Given the description of an element on the screen output the (x, y) to click on. 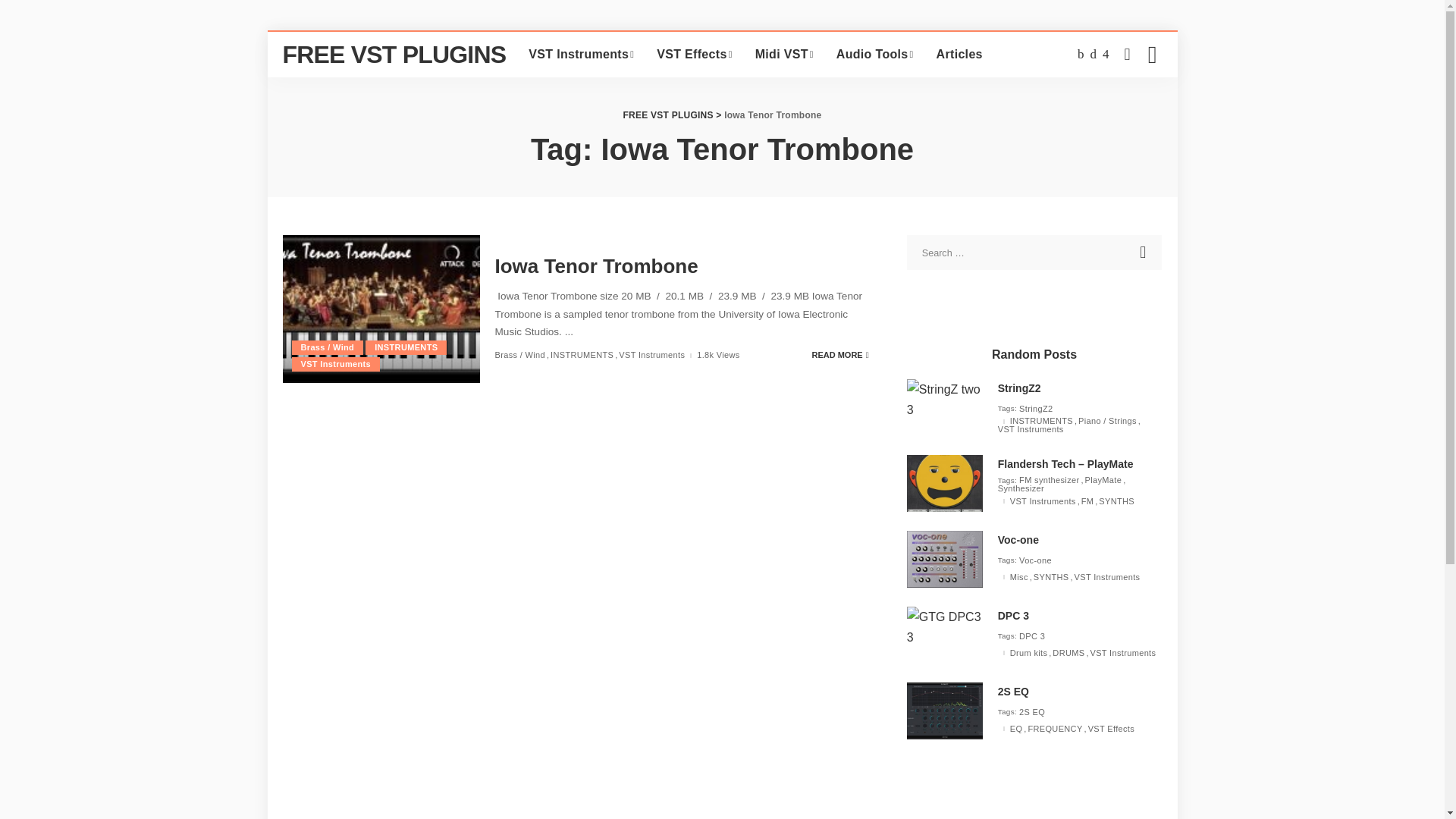
Search (1143, 252)
Search (1143, 252)
FREE VST PLUGINS (393, 53)
